Given the description of an element on the screen output the (x, y) to click on. 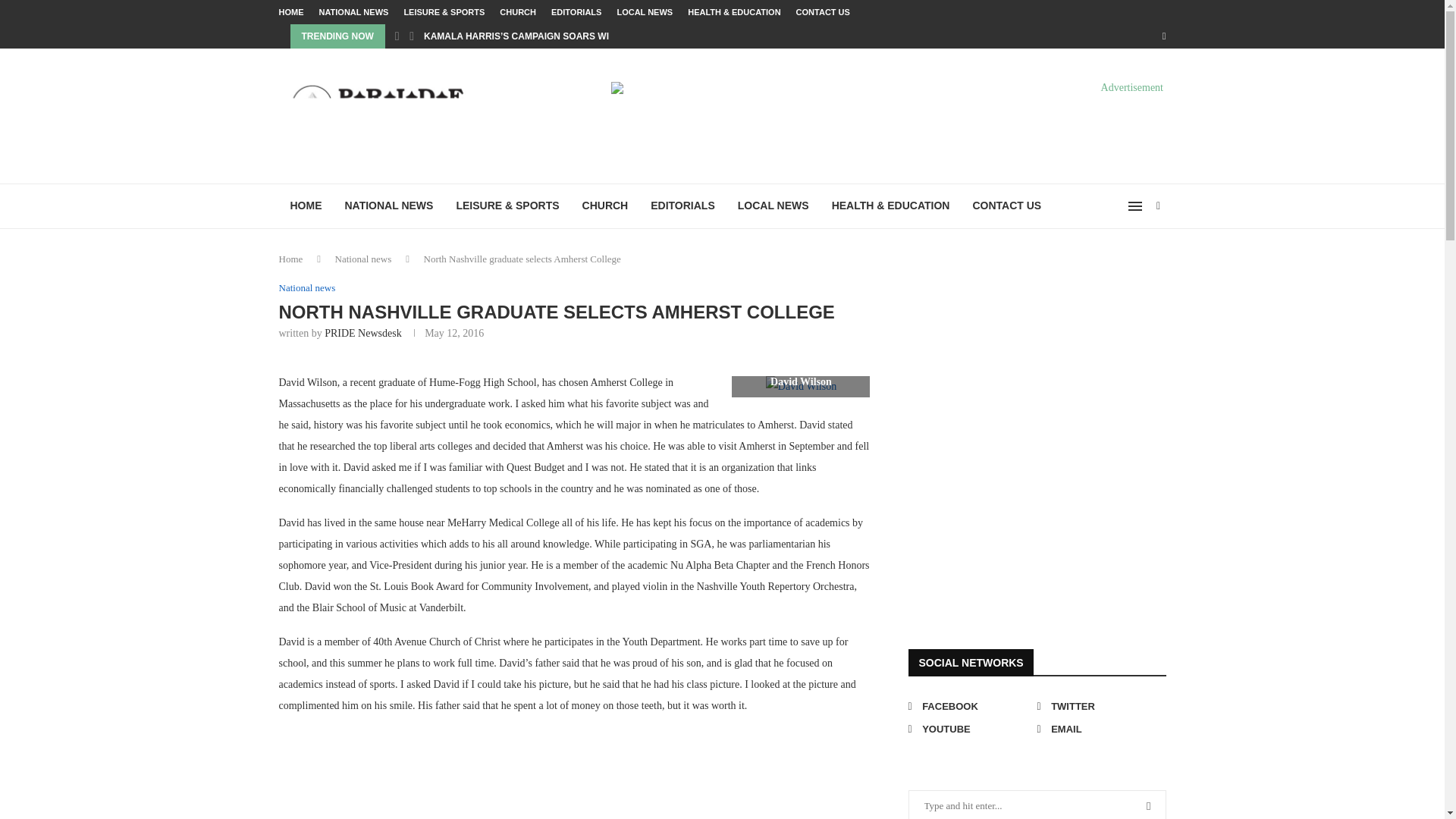
LOCAL NEWS (773, 206)
CHURCH (605, 206)
NATIONAL NEWS (353, 12)
National news (362, 258)
HOME (291, 12)
EDITORIALS (682, 206)
advertisement (1021, 501)
CHURCH (517, 12)
National news (307, 287)
HOME (306, 206)
